Given the description of an element on the screen output the (x, y) to click on. 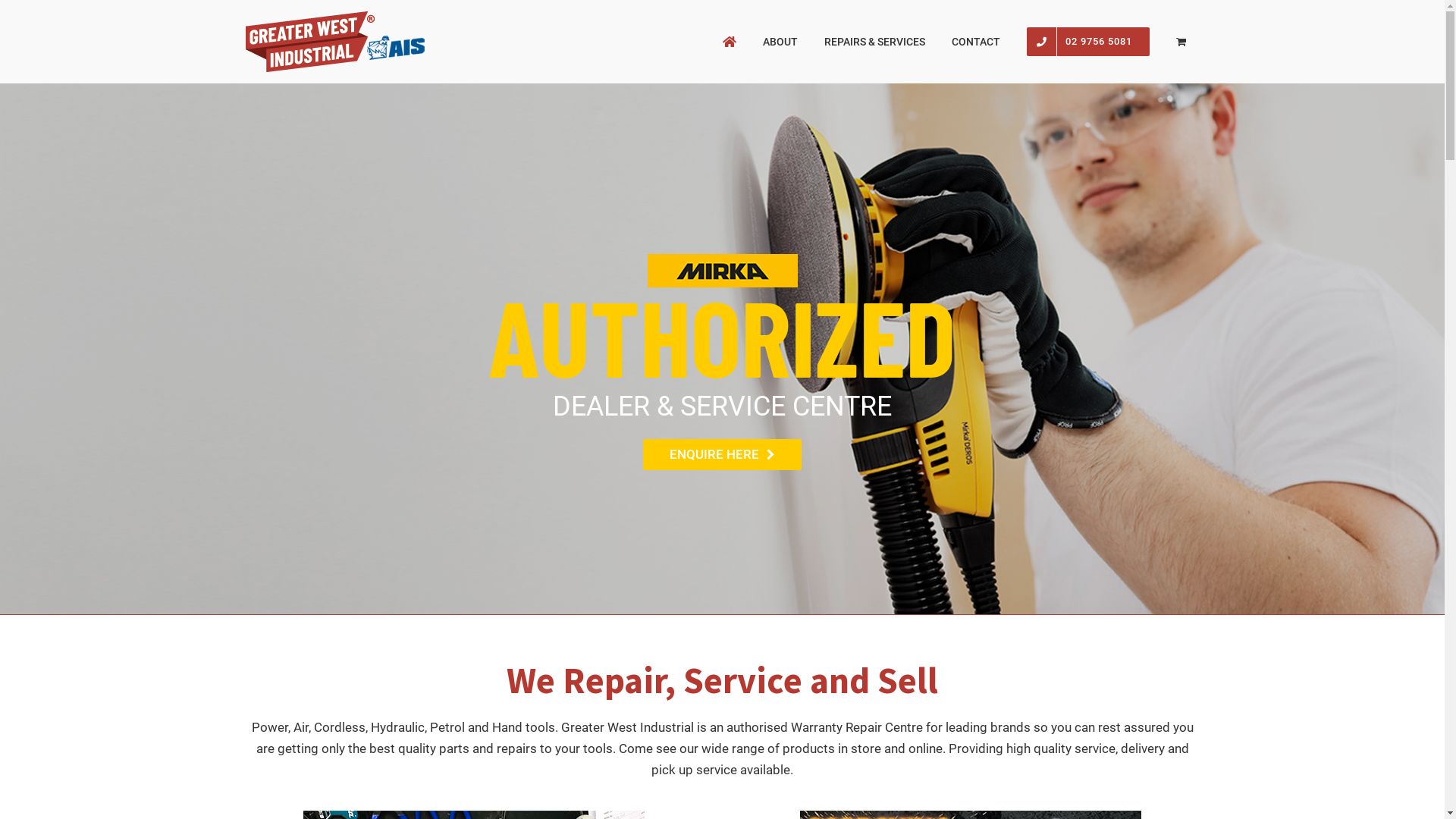
ABOUT Element type: text (779, 41)
02 9756 5081 Element type: text (1087, 41)
REPAIRS & SERVICES Element type: text (874, 41)
CONTACT Element type: text (975, 41)
